Given the description of an element on the screen output the (x, y) to click on. 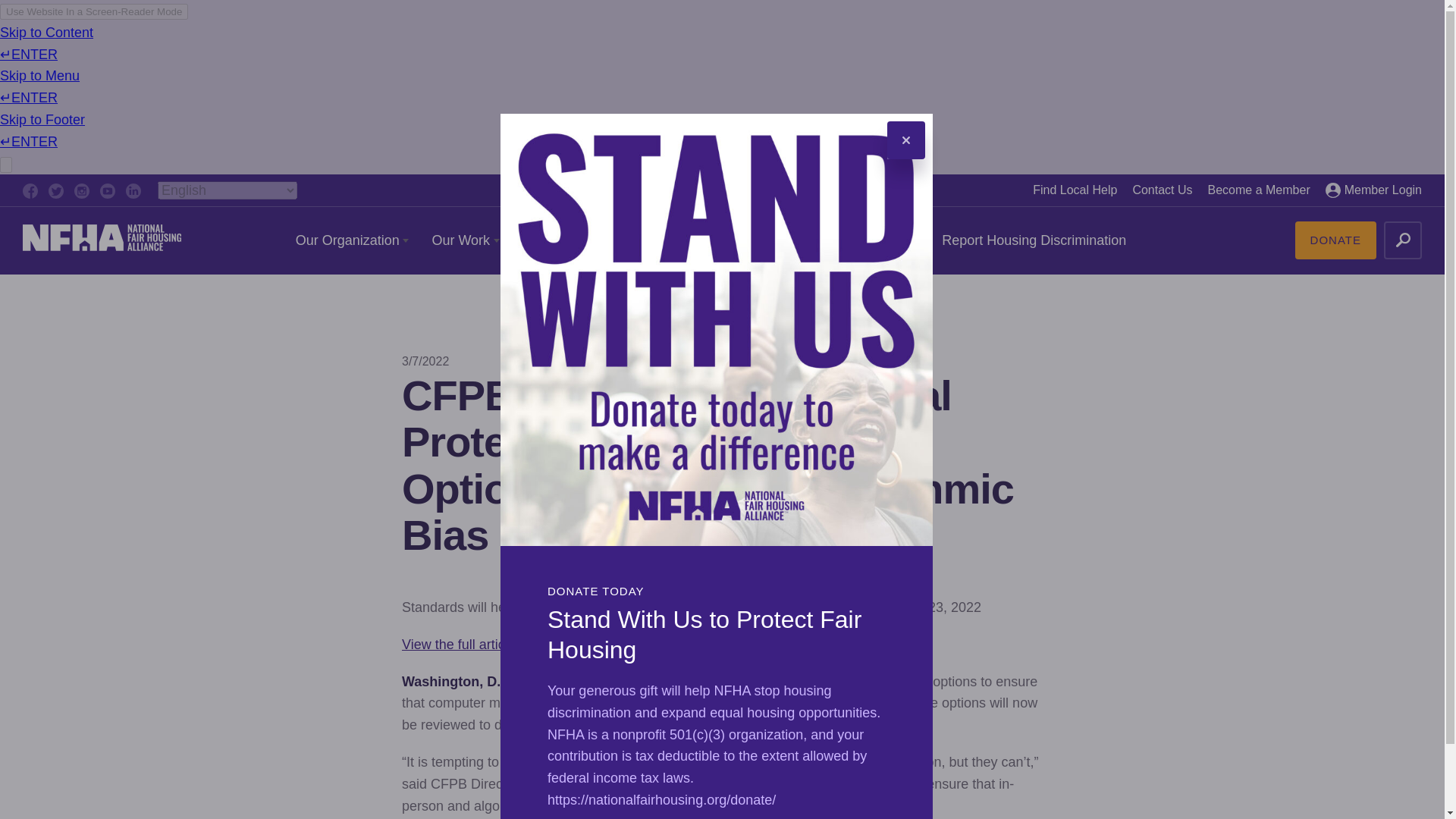
Resources (559, 240)
Our Work (464, 240)
Our Organization (352, 240)
